Given the description of an element on the screen output the (x, y) to click on. 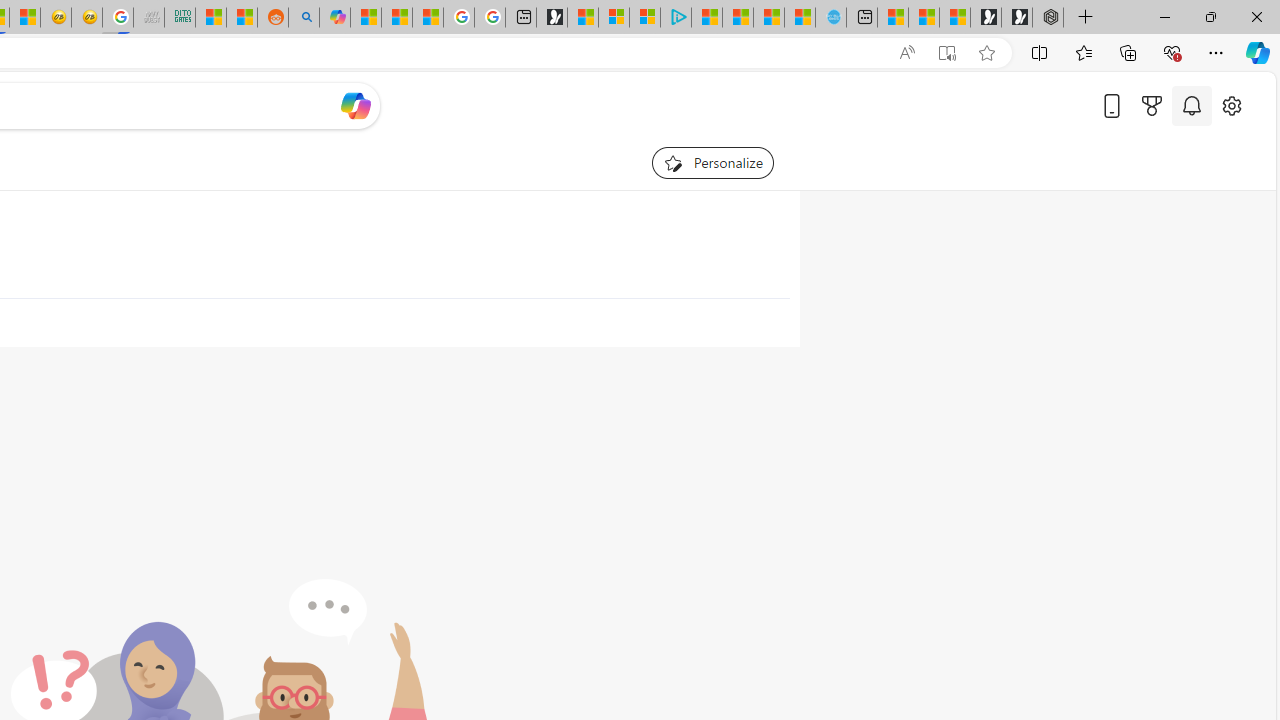
Open Copilot (356, 105)
New tab (861, 17)
Nordace - Nordace Siena Is Not An Ordinary Backpack (1048, 17)
Read aloud this page (Ctrl+Shift+U) (906, 53)
Microsoft rewards (1151, 105)
Open Copilot (355, 105)
Microsoft Copilot in Bing (334, 17)
Personalize your feed" (712, 162)
Notifications (1192, 105)
Play Free Online Games | Games from Microsoft Start (1016, 17)
